Given the description of an element on the screen output the (x, y) to click on. 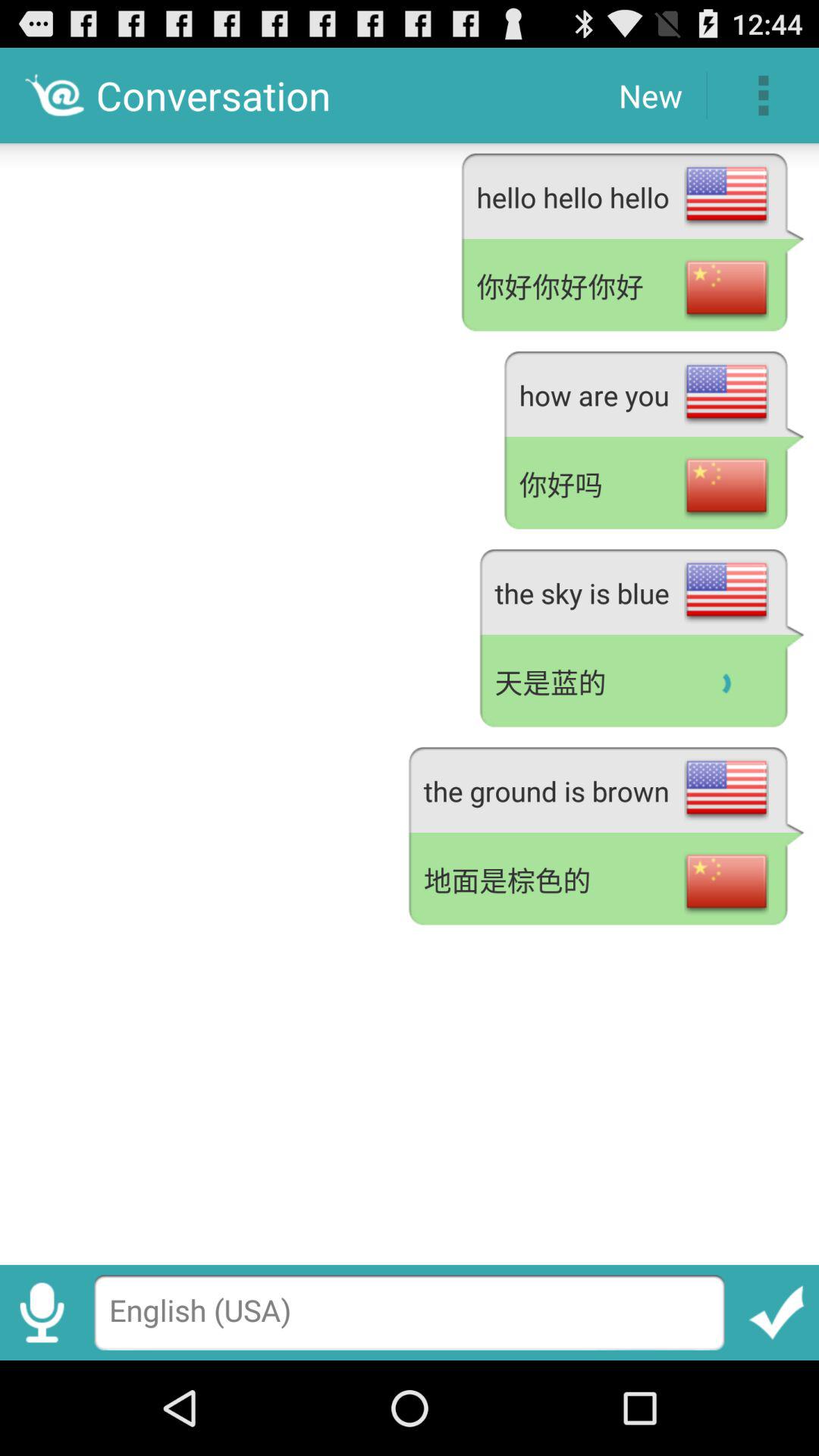
jump until the new (650, 95)
